Given the description of an element on the screen output the (x, y) to click on. 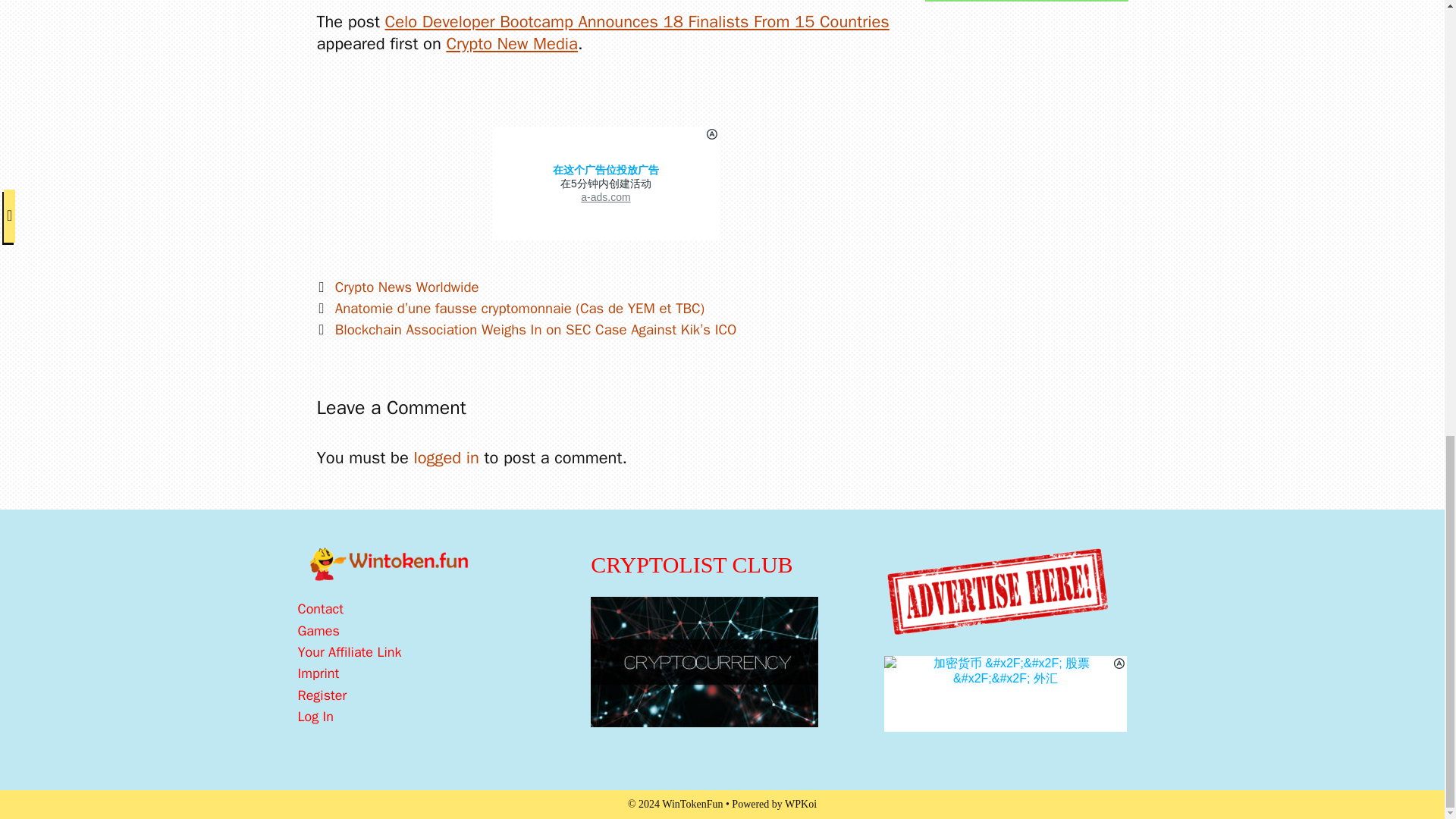
Previous (510, 308)
logged in (446, 457)
Crypto New Media (511, 43)
Next (526, 330)
Crypto News Worldwide (406, 287)
